Given the description of an element on the screen output the (x, y) to click on. 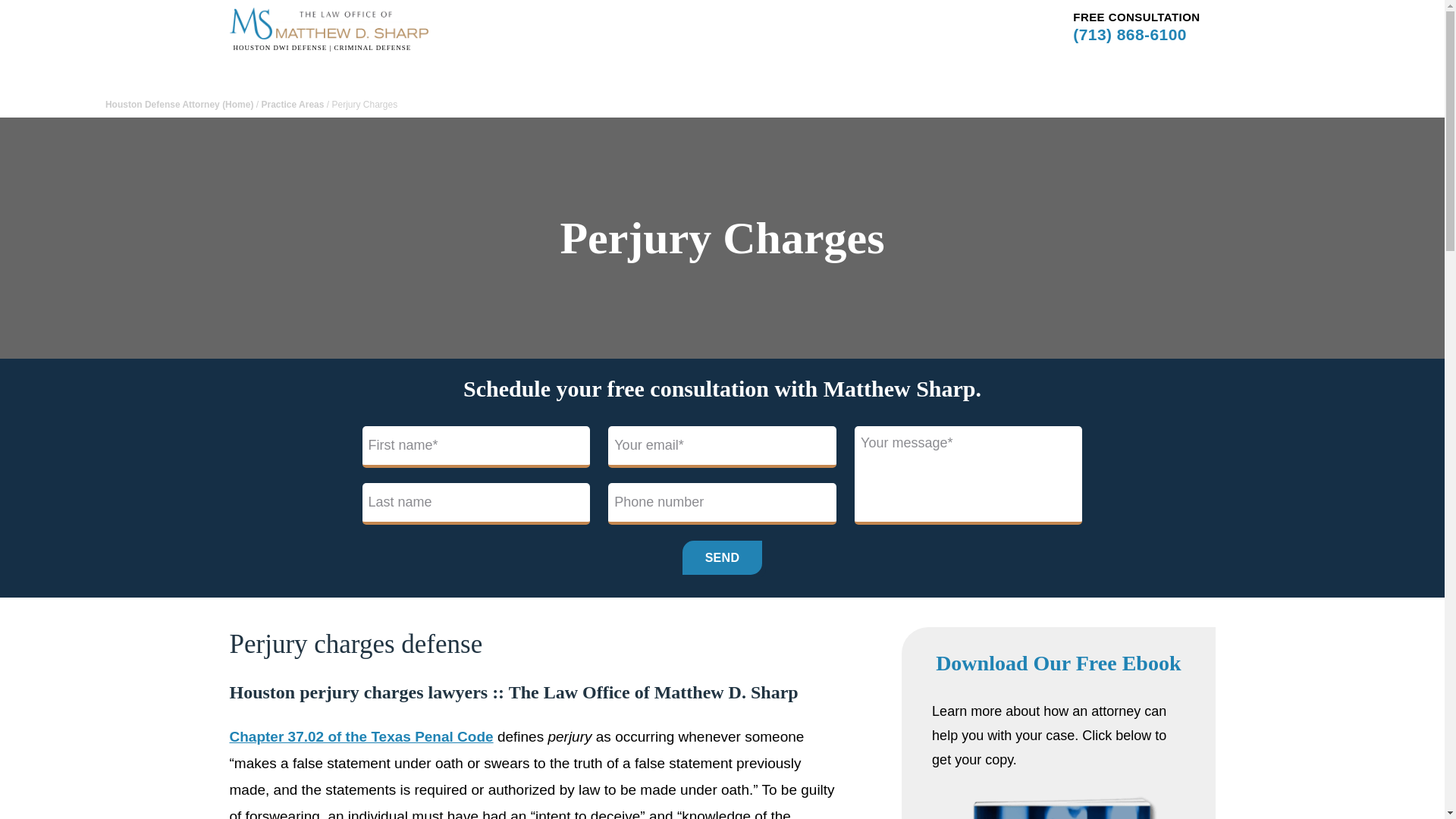
Send (722, 557)
Practice Areas (291, 104)
Your Attorney (567, 15)
Contact (891, 15)
Resources (828, 15)
Practice Areas (654, 15)
Send (722, 557)
Case Results (746, 15)
Chapter 37.02 of the Texas Penal Code (360, 736)
